Given the description of an element on the screen output the (x, y) to click on. 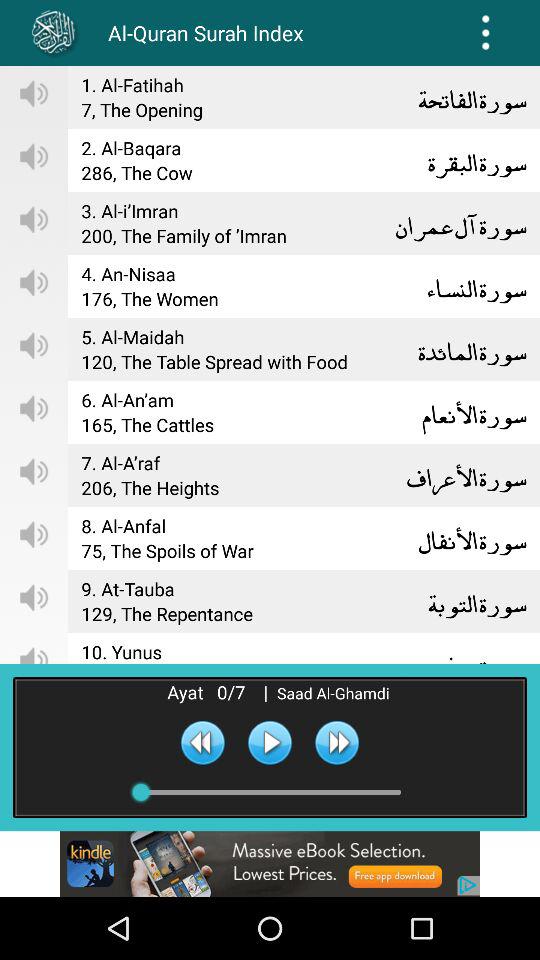
switch autoplay option (269, 742)
